Given the description of an element on the screen output the (x, y) to click on. 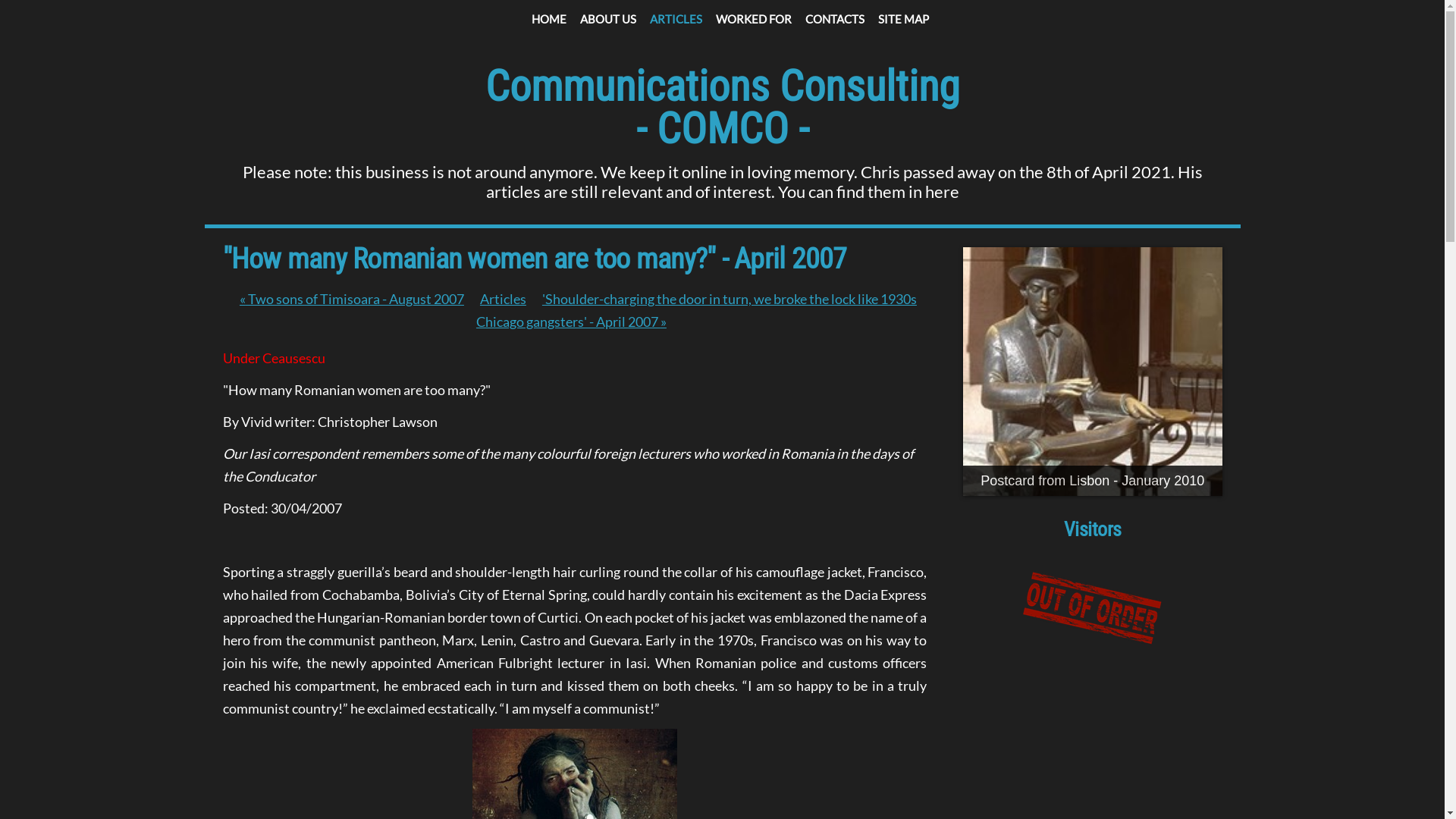
WORKED FOR Element type: text (753, 18)
Articles Element type: text (503, 298)
CONTACTS Element type: text (834, 18)
Communications Consulting
- COMCO - Element type: text (722, 107)
ARTICLES Element type: text (675, 18)
SITE MAP Element type: text (903, 18)
ABOUT US Element type: text (607, 18)
HOME Element type: text (548, 18)
